Given the description of an element on the screen output the (x, y) to click on. 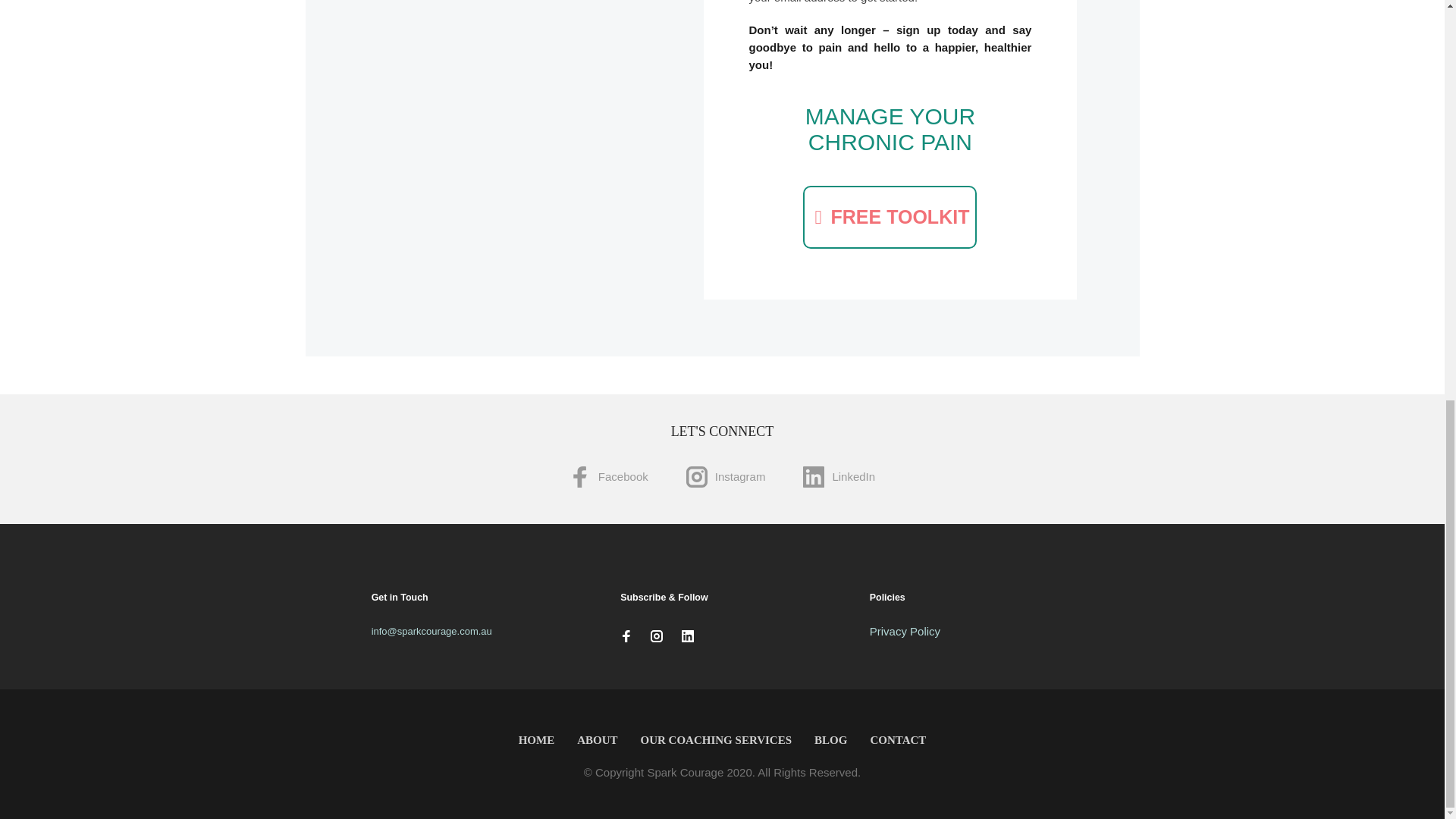
OUR COACHING SERVICES (715, 740)
Privacy Policy (904, 631)
HOME (536, 740)
Facebook (608, 477)
LinkedIn (839, 477)
Instagram (725, 477)
BLOG (831, 740)
ABOUT (597, 740)
CONTACT (898, 740)
